Given the description of an element on the screen output the (x, y) to click on. 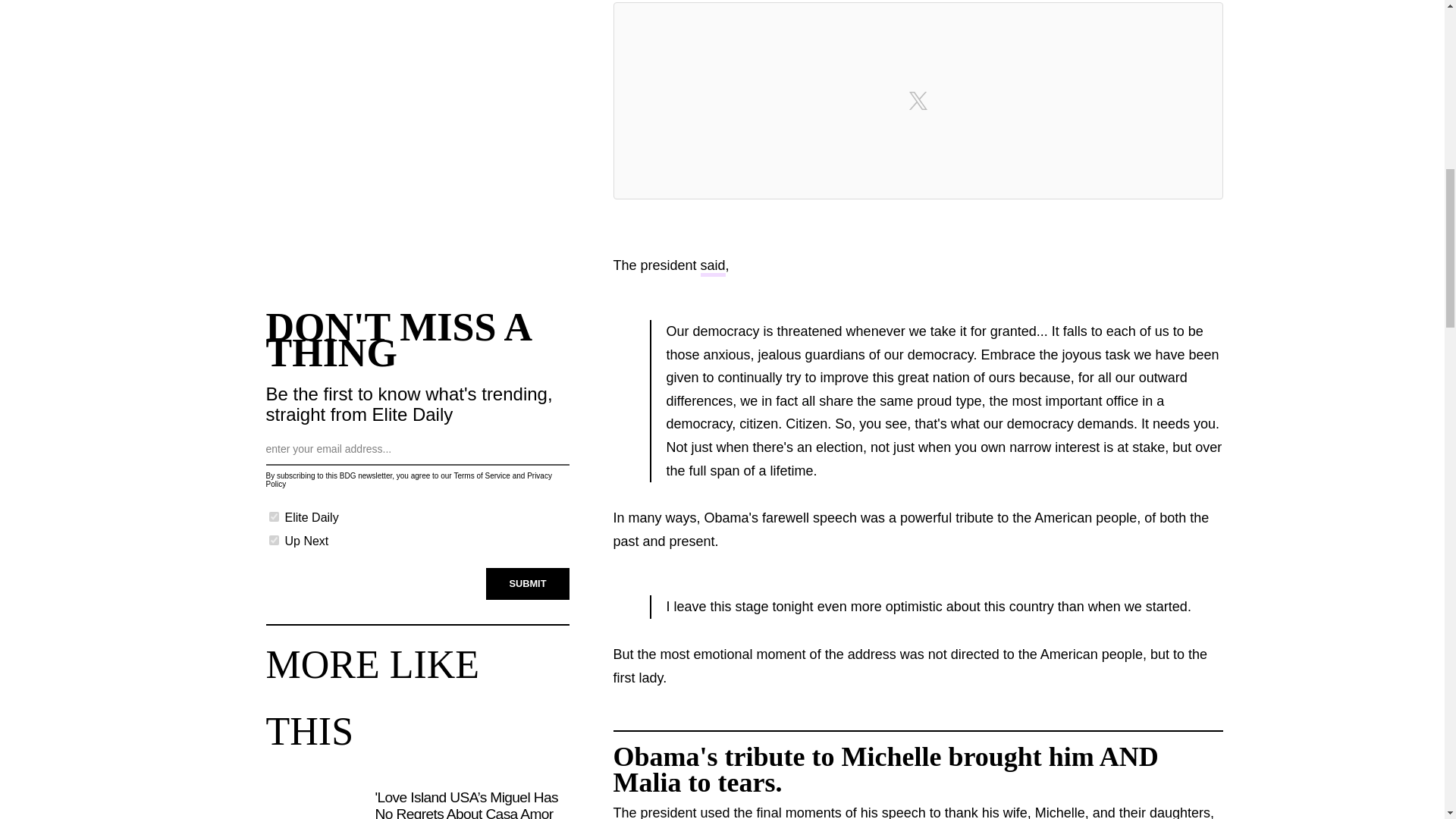
Terms of Service (480, 475)
said (712, 266)
SUBMIT (527, 583)
Privacy Policy (407, 479)
